Given the description of an element on the screen output the (x, y) to click on. 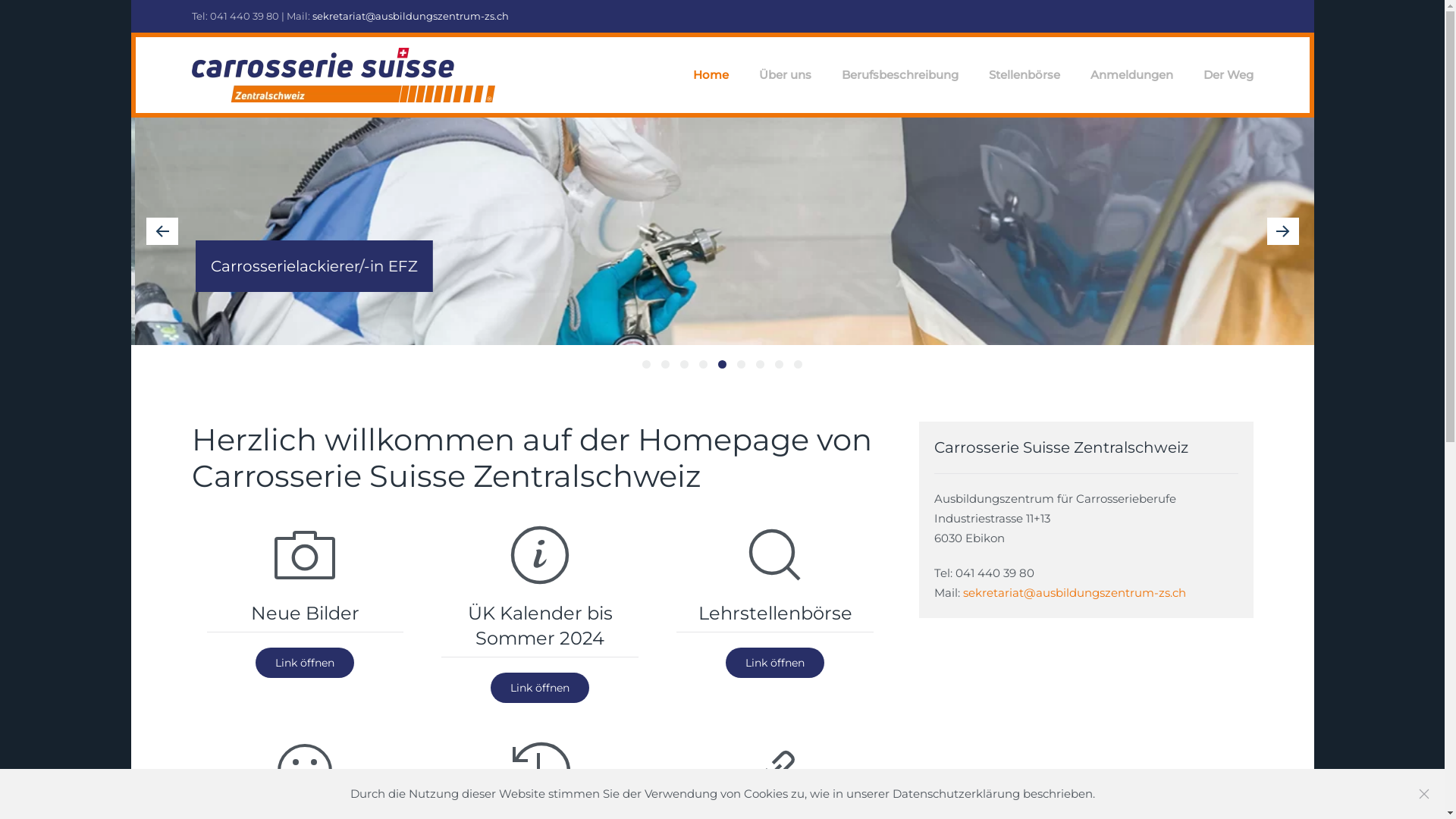
Carrosserielackierer/-in EFZ Element type: text (722, 364)
Lackierassistent/-in EBA Element type: text (684, 364)
sekretariat@ausbildungszentrum-zs.ch Element type: text (410, 15)
Carrosserielackierer/-in EFZ Element type: text (797, 364)
Der Weg Element type: text (1227, 74)
Carrosseriereparateur/-in EFZ Element type: text (665, 364)
sekretariat@ausbildungszentrum-zs.ch Element type: text (1074, 592)
Berufsbeschreibung Element type: text (899, 74)
Home Element type: text (710, 74)
Fahrzeugschlosser/-in EFZ Element type: text (646, 364)
Fahrzeugschlosser/-in EFZ Element type: text (741, 364)
Lackierassistent/-in EBA Element type: text (760, 364)
Carrosseriespengler/-in EFZ Element type: text (703, 364)
Carrosseriespengler/-in EFZ Element type: text (779, 364)
Anmeldungen Element type: text (1131, 74)
